Given the description of an element on the screen output the (x, y) to click on. 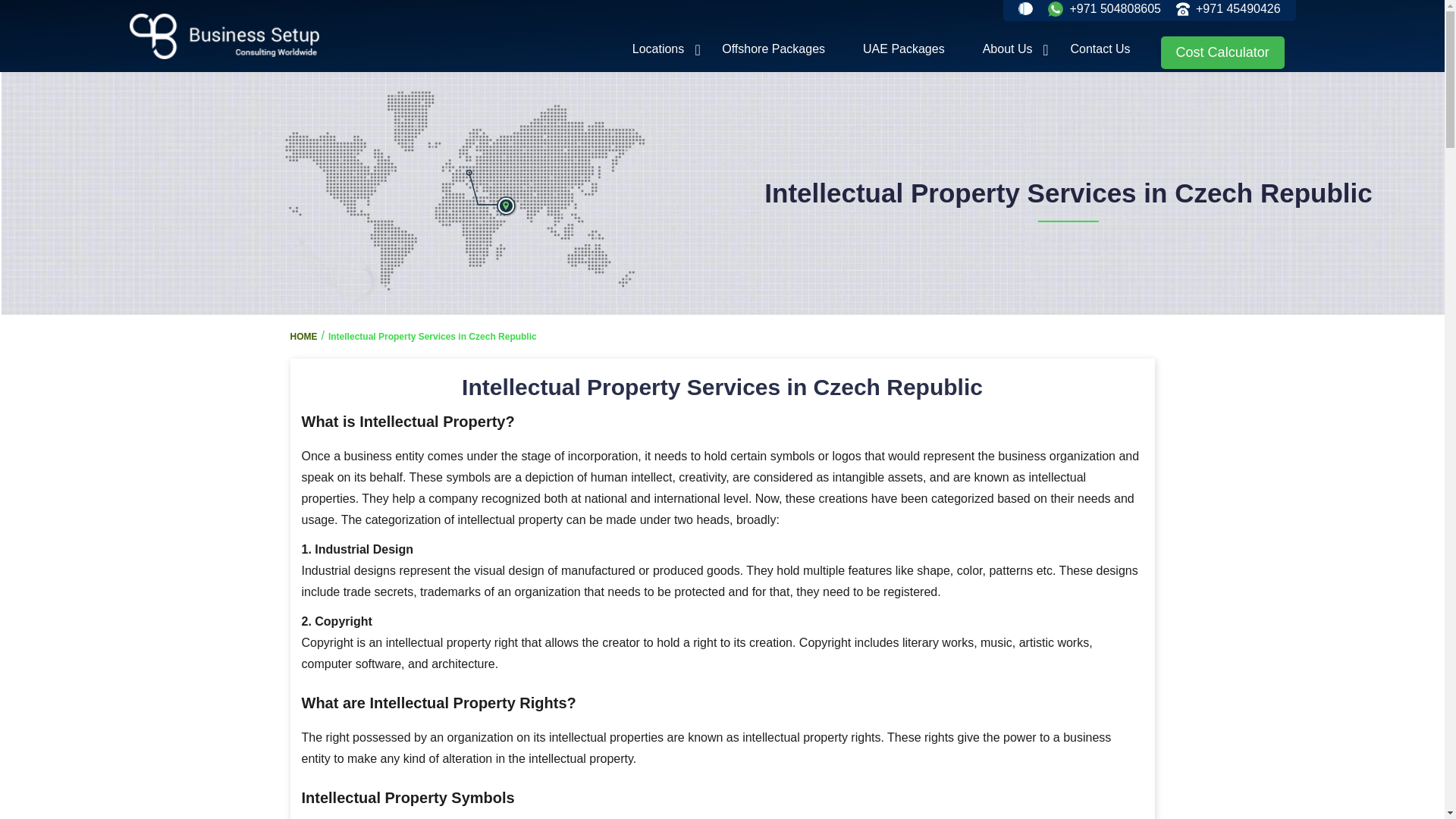
Locations (658, 49)
Home (227, 35)
